Given the description of an element on the screen output the (x, y) to click on. 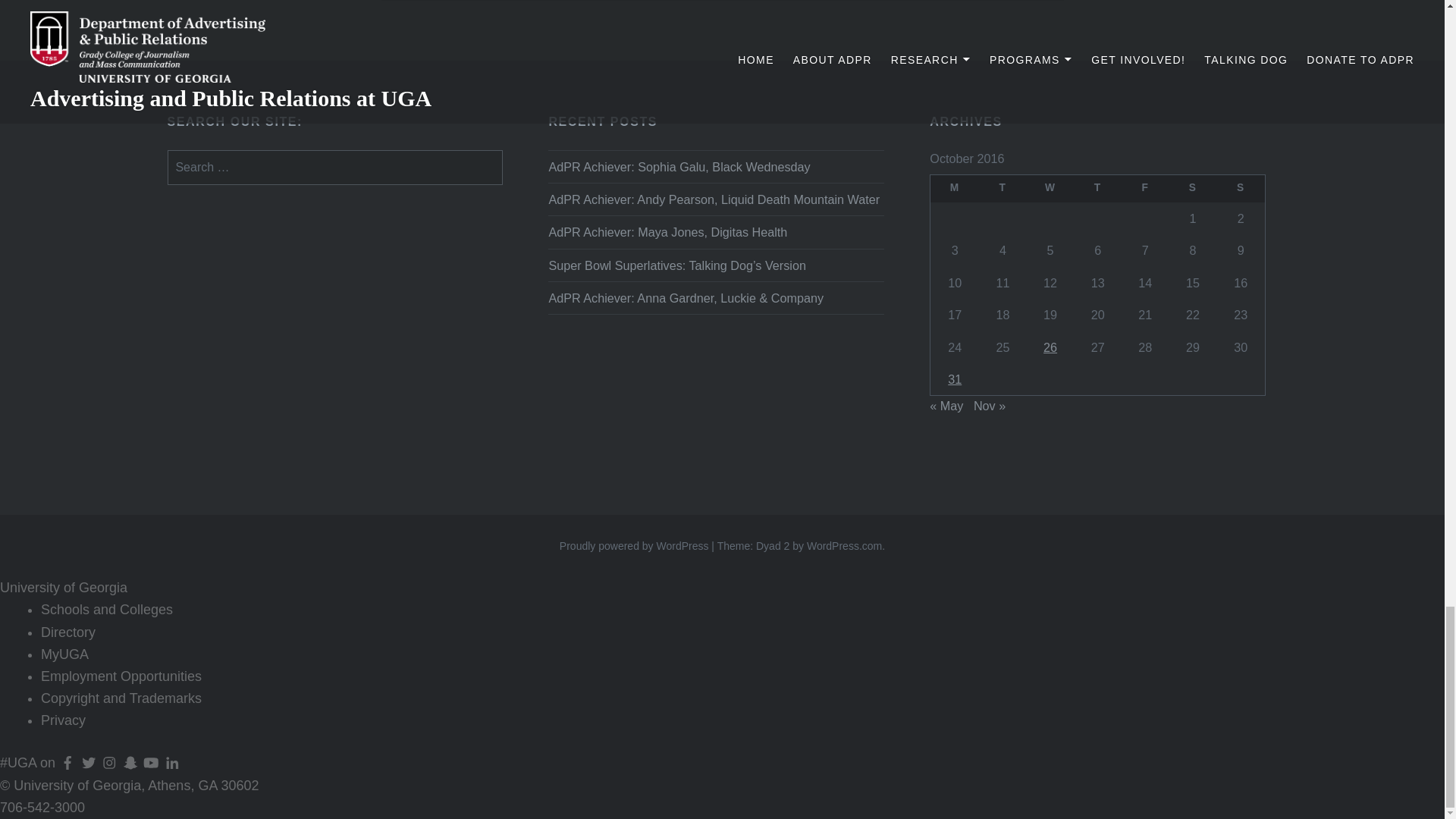
YouTube (151, 762)
Snapchat (130, 762)
LinkedIn (171, 762)
Wednesday (1050, 188)
Thursday (1097, 188)
26 (1050, 346)
YouTube (151, 762)
Snapchat (130, 762)
Friday (1145, 188)
Saturday (1193, 188)
AdPR Achiever: Maya Jones, Digitas Health (715, 231)
Proudly powered by WordPress (634, 545)
LinkedIn (171, 762)
